Given the description of an element on the screen output the (x, y) to click on. 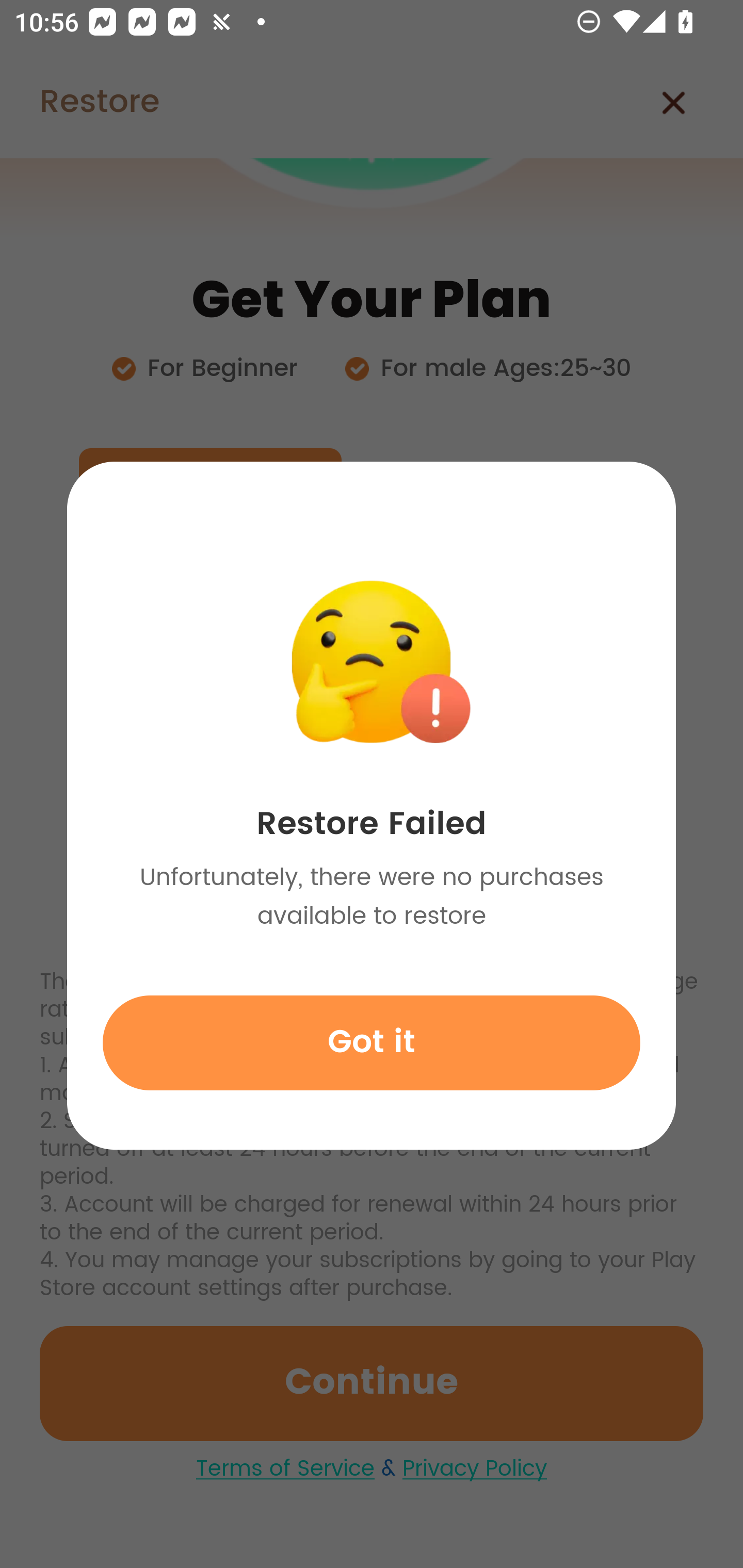
Got it (371, 1042)
